Given the description of an element on the screen output the (x, y) to click on. 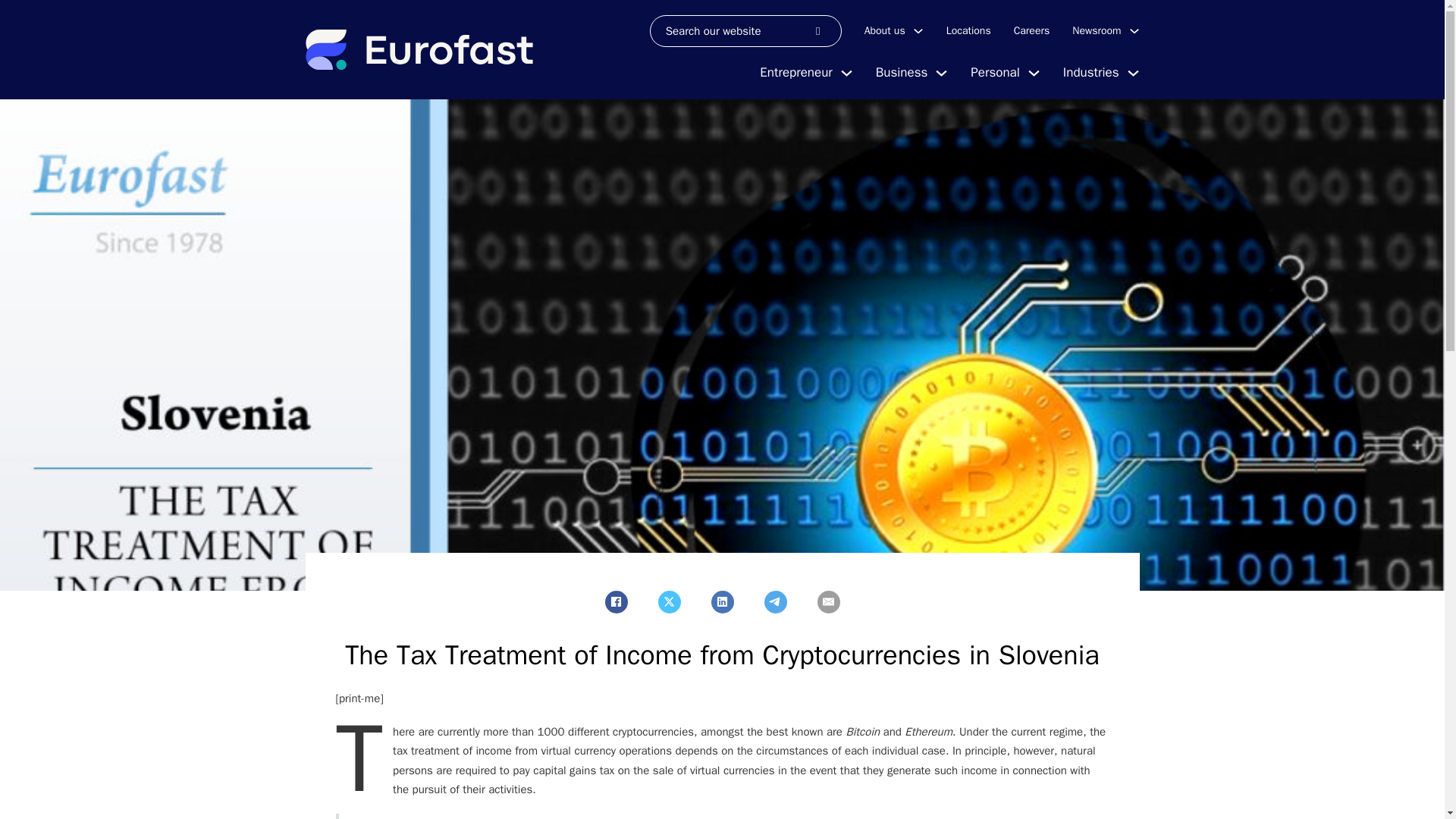
Careers (1031, 31)
About us (884, 31)
Entrepreneur (795, 73)
Newsroom (1096, 31)
Locations (968, 31)
